Given the description of an element on the screen output the (x, y) to click on. 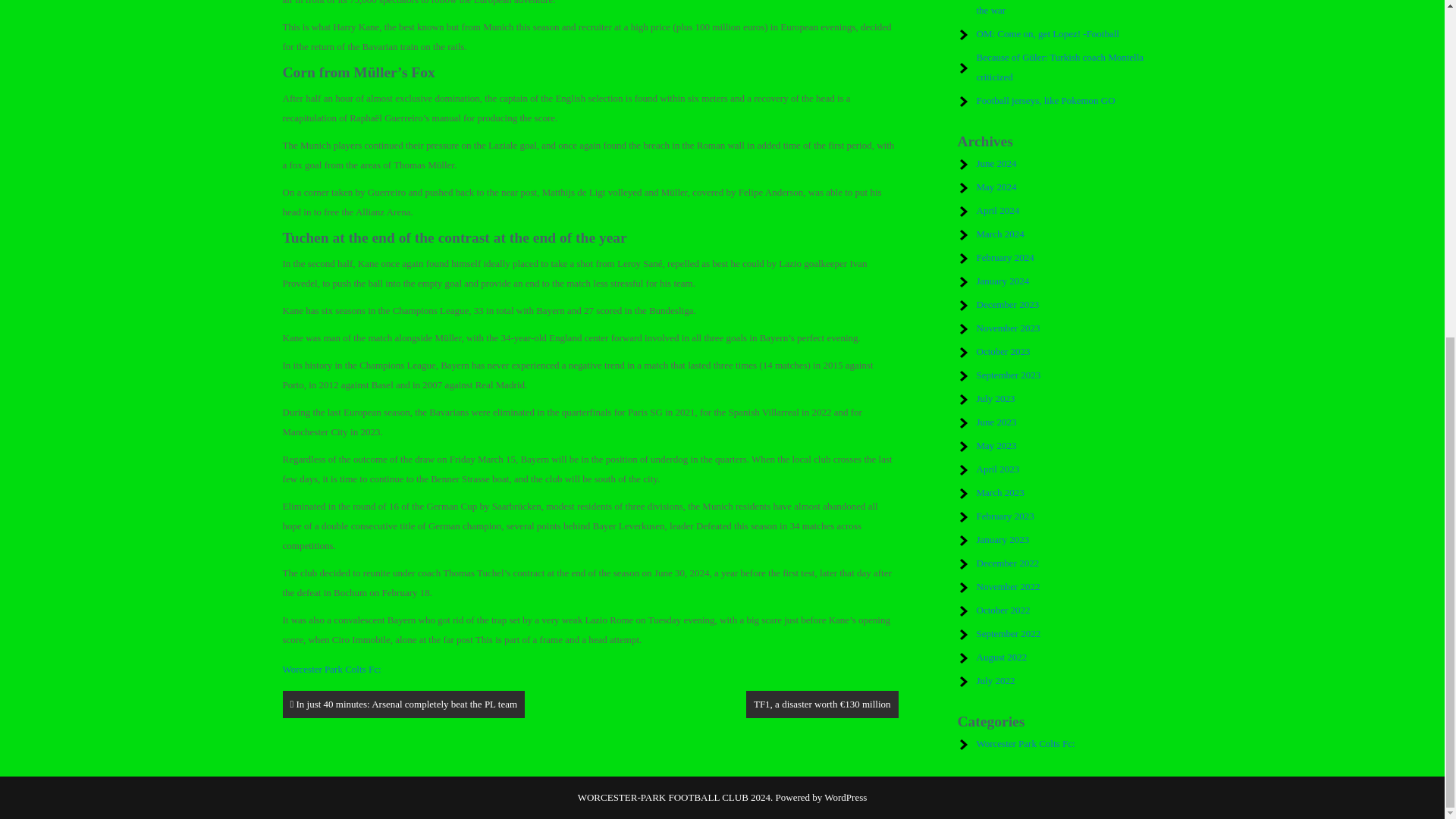
January 2024 (1002, 280)
January 2023 (1002, 539)
December 2022 (1007, 562)
December 2023 (1007, 304)
September 2022 (1008, 633)
February 2023 (1004, 515)
March 2024 (1000, 233)
July 2023 (995, 398)
April 2024 (998, 210)
August 2022 (1001, 656)
May 2024 (996, 186)
OM: Come on, get Lopez! -Football (1047, 33)
October 2023 (1003, 351)
September 2023 (1008, 374)
